Given the description of an element on the screen output the (x, y) to click on. 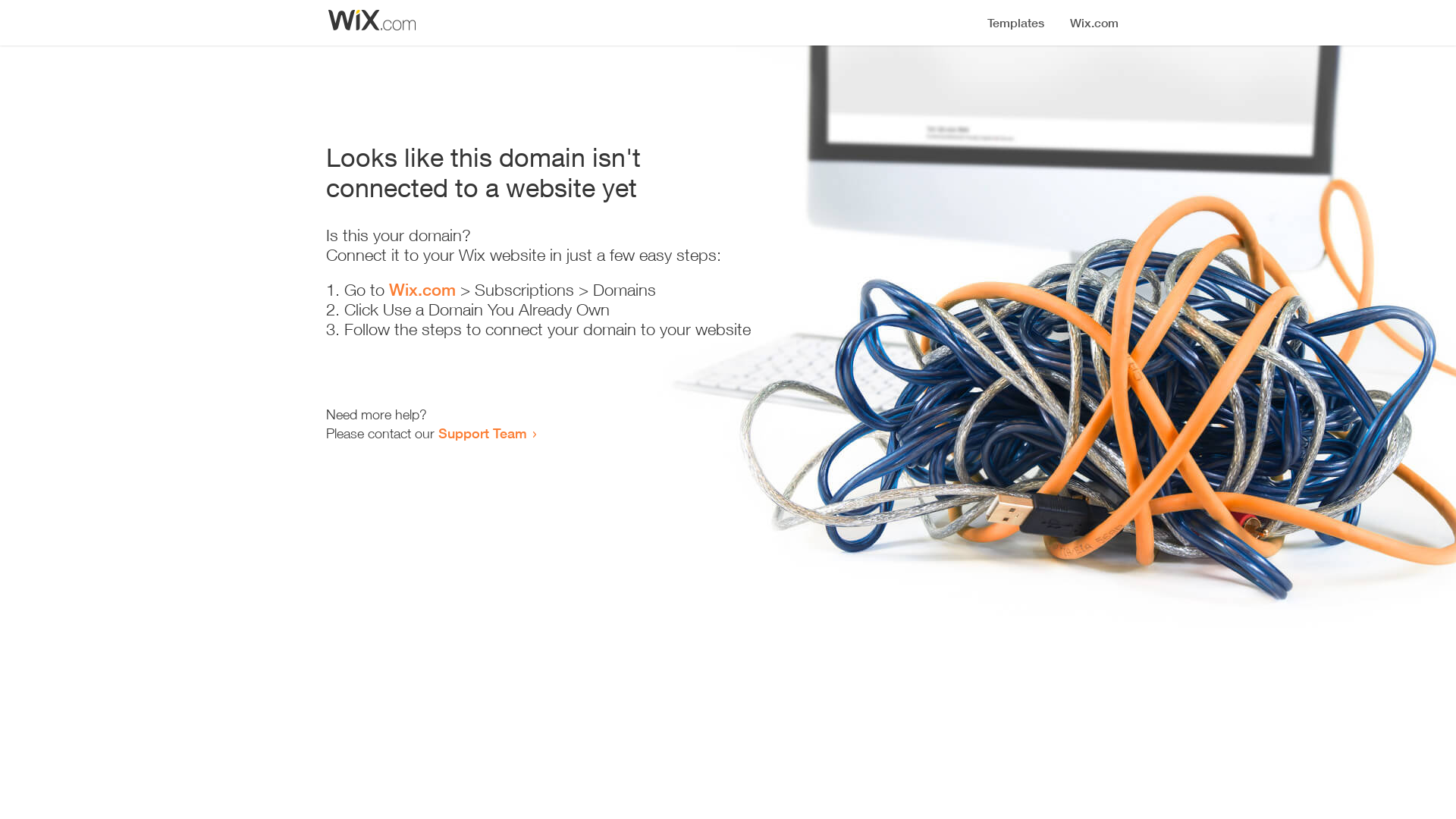
Support Team Element type: text (482, 432)
Wix.com Element type: text (422, 289)
